Given the description of an element on the screen output the (x, y) to click on. 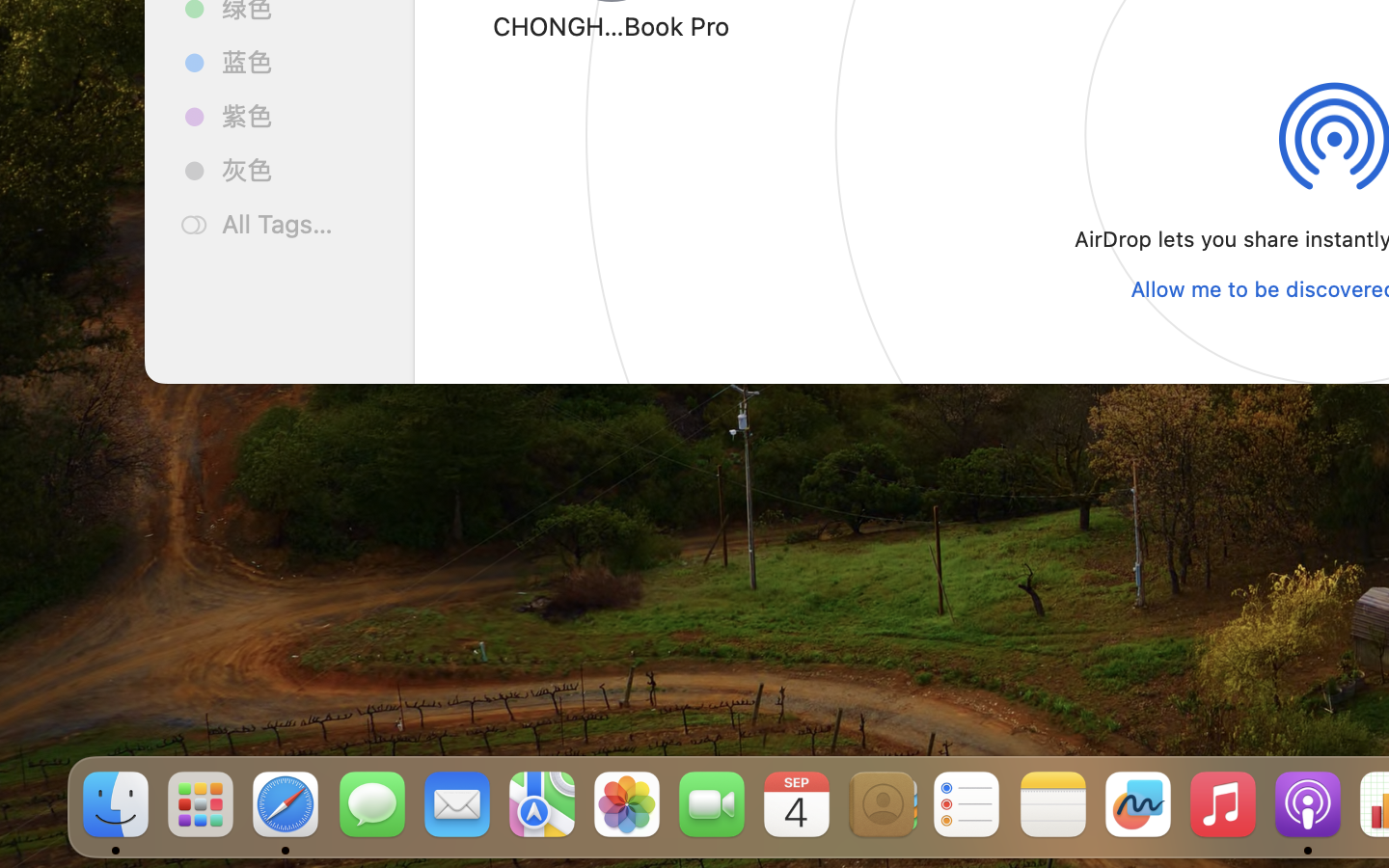
All Tags… Element type: AXStaticText (299, 223)
蓝色 Element type: AXStaticText (299, 61)
紫色 Element type: AXStaticText (299, 115)
灰色 Element type: AXStaticText (299, 169)
CHONGHAO’s MacBook Pro Element type: AXStaticText (611, 24)
